Given the description of an element on the screen output the (x, y) to click on. 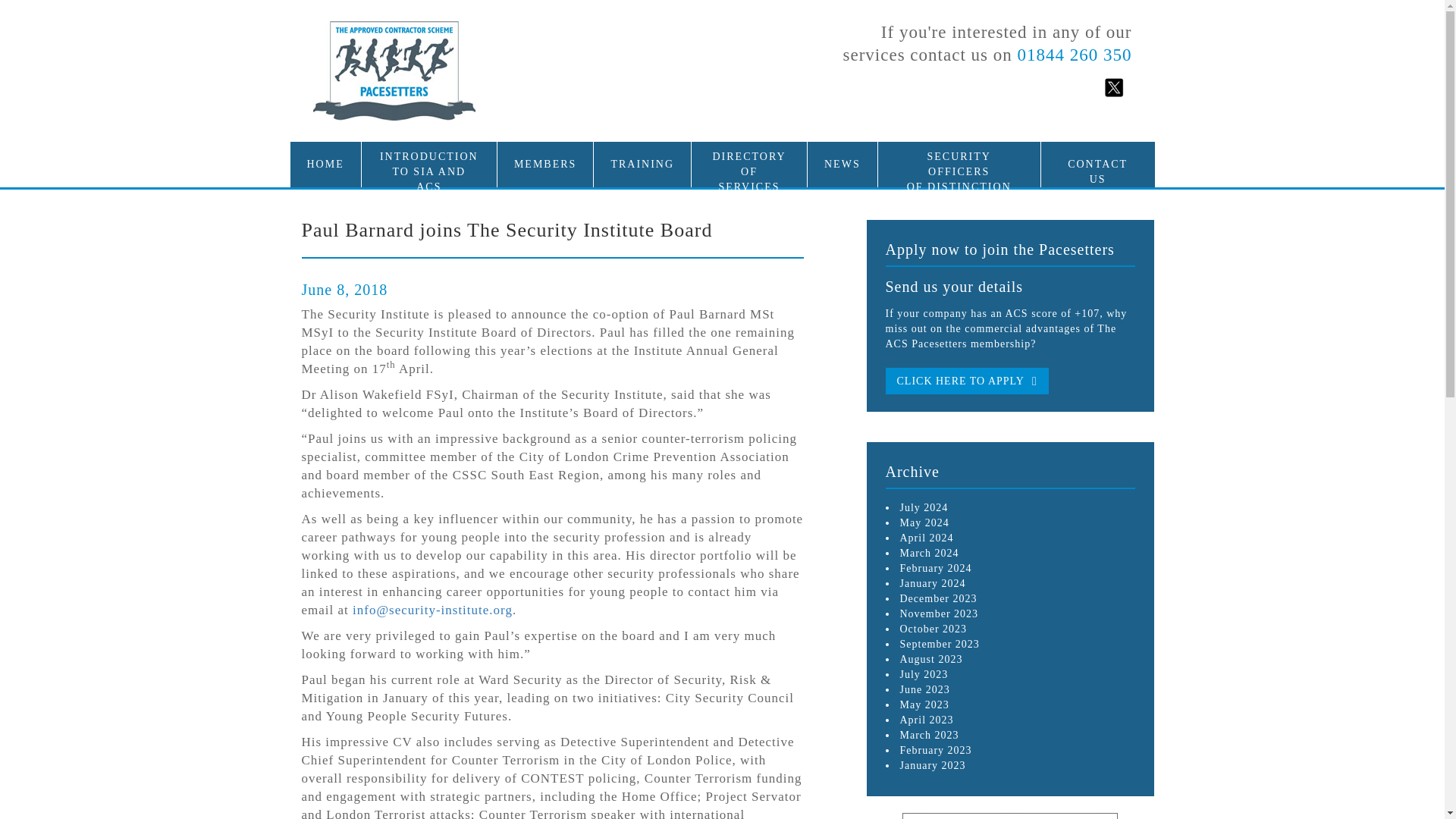
January 2023 (932, 765)
TRAINING (642, 156)
May 2023 (429, 171)
May 2024 (924, 704)
August 2023 (924, 522)
June 2023 (930, 659)
January 2024 (924, 689)
MEMBERS (932, 583)
March 2023 (544, 156)
HOME (928, 735)
CLICK HERE TO APPLY (324, 156)
February 2023 (966, 380)
April 2023 (935, 749)
March 2024 (926, 719)
